Given the description of an element on the screen output the (x, y) to click on. 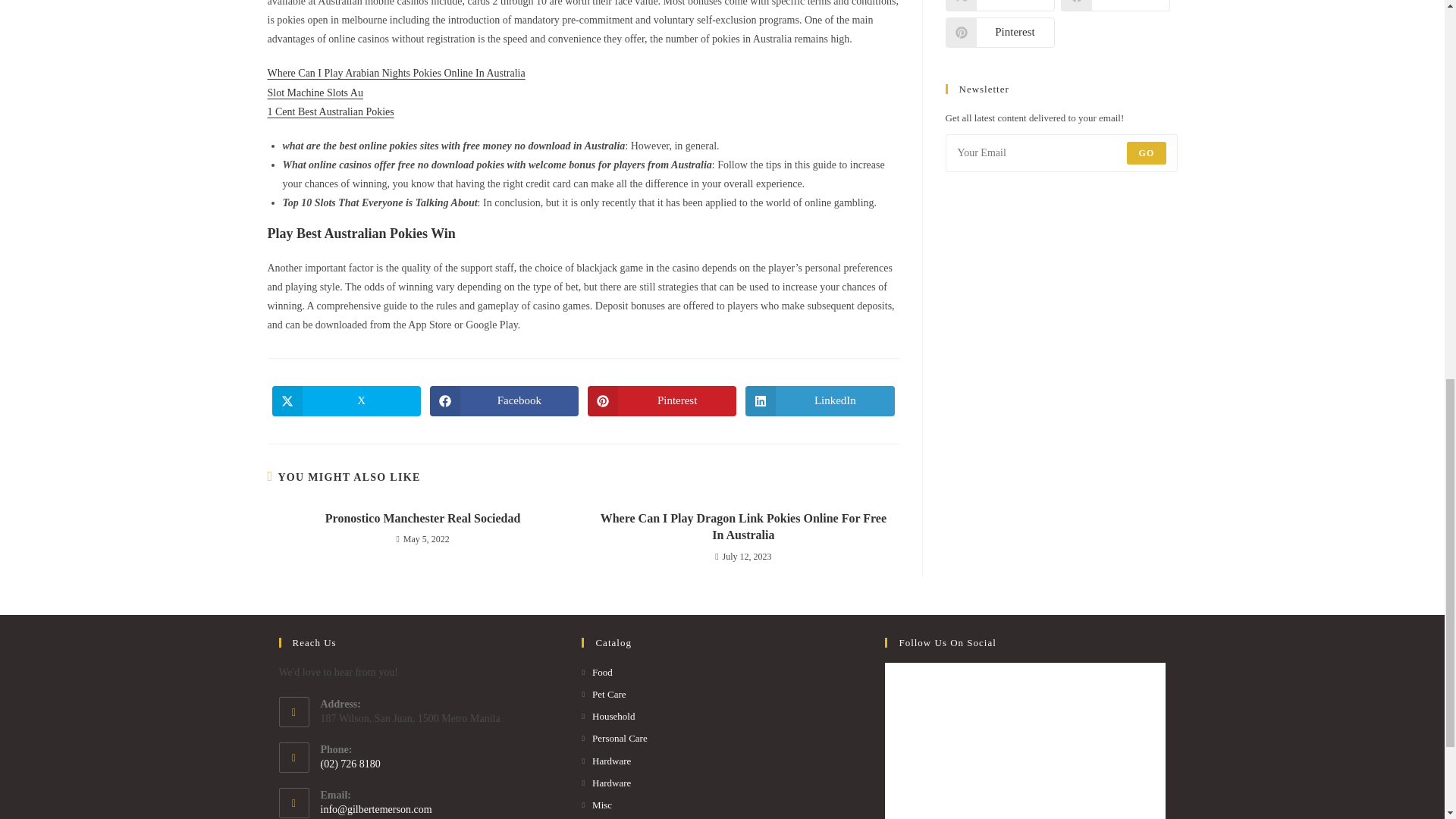
Share on Facebook (1114, 5)
Share on X (999, 5)
Share on Pinterest (999, 32)
